Given the description of an element on the screen output the (x, y) to click on. 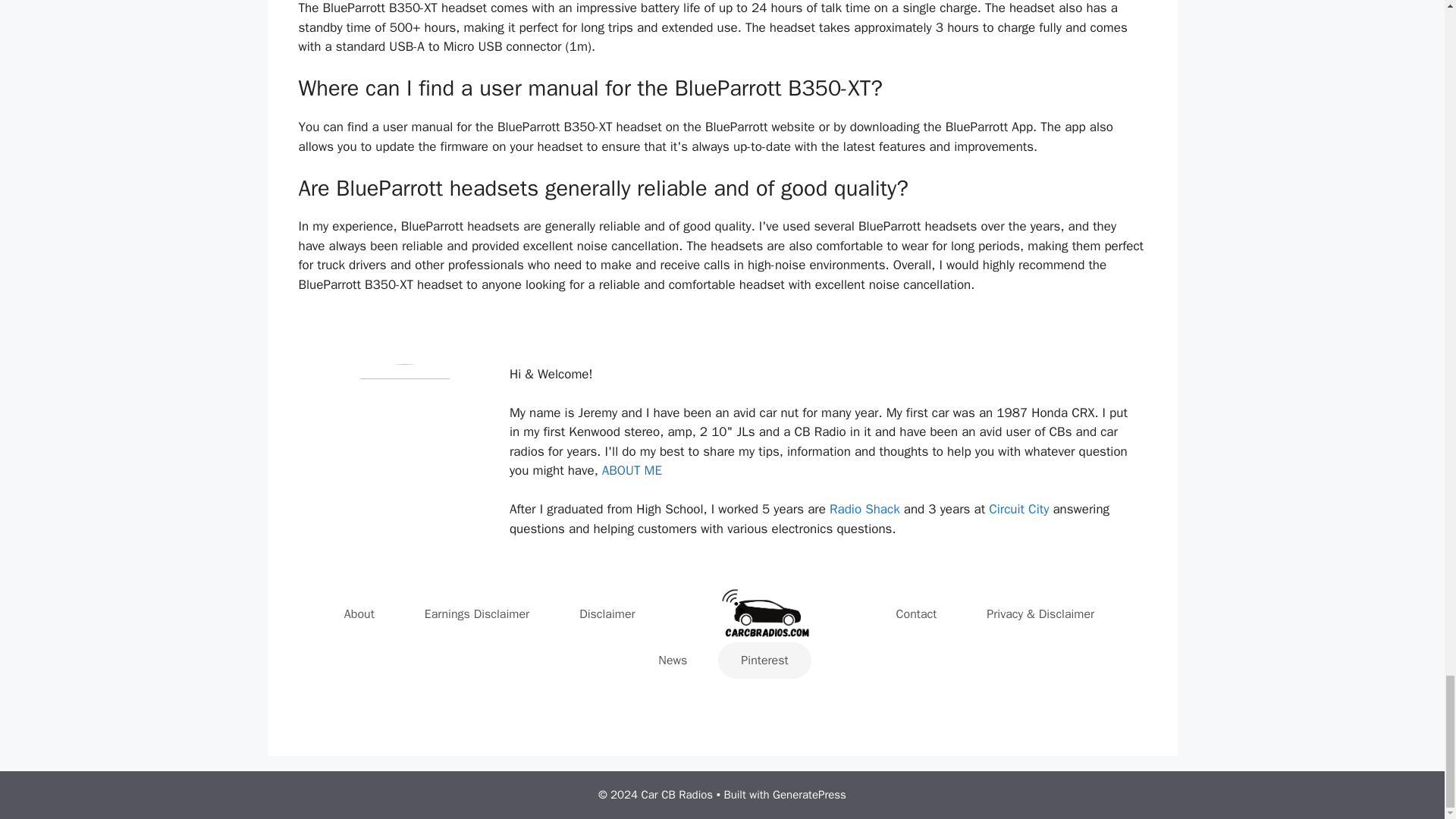
ABOUT ME (632, 470)
Contact (916, 614)
Pinterest (764, 660)
GeneratePress (809, 794)
Disclaimer (606, 614)
Radio Shack (866, 508)
About (358, 614)
News (672, 660)
Earnings Disclaimer (477, 614)
Circuit City (1018, 508)
